Given the description of an element on the screen output the (x, y) to click on. 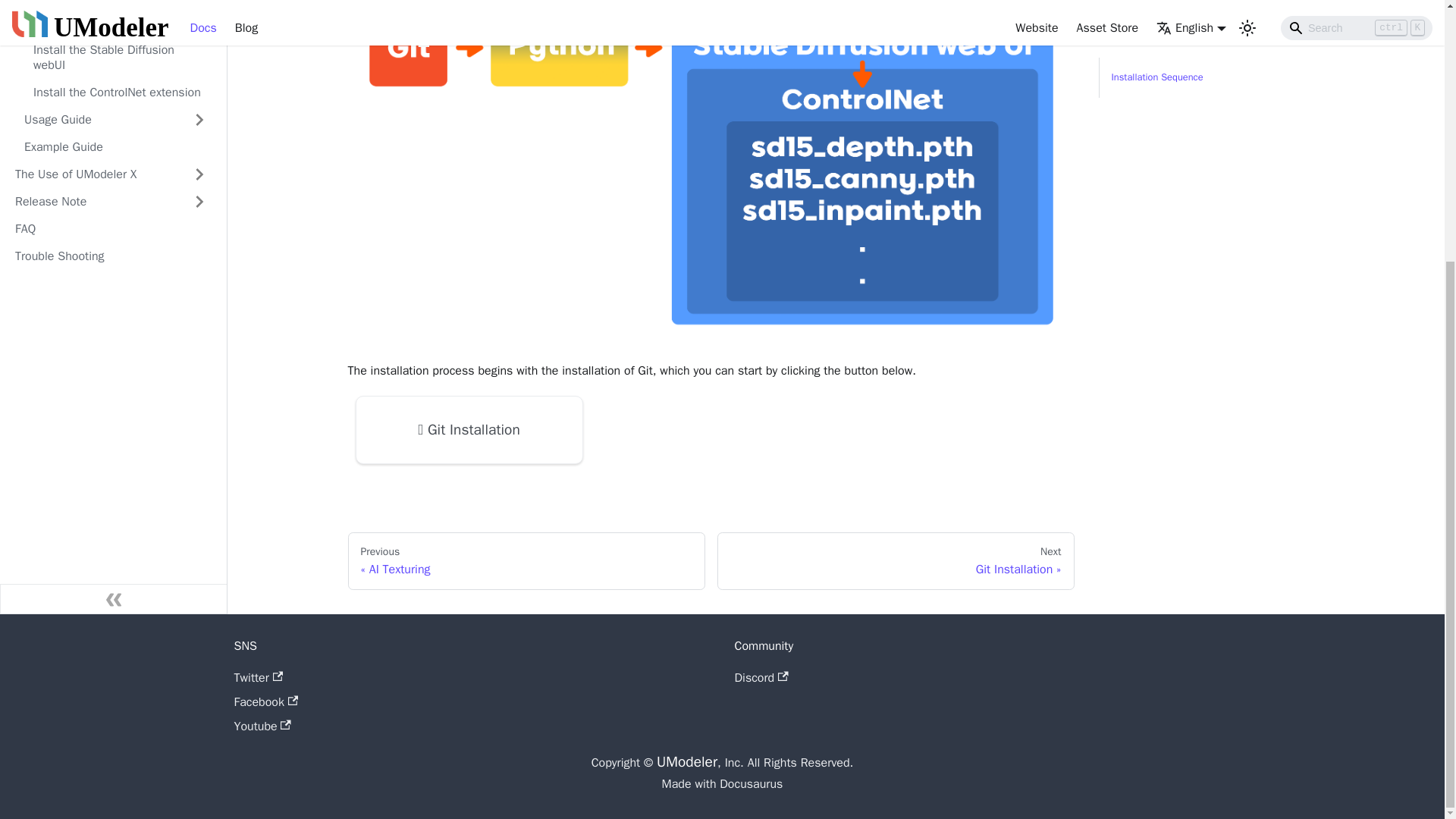
Release Note (94, 30)
The Use of UModeler X (94, 7)
Trouble Shooting (110, 85)
Collapse sidebar (113, 428)
Git Installation (468, 429)
FAQ (110, 57)
